Given the description of an element on the screen output the (x, y) to click on. 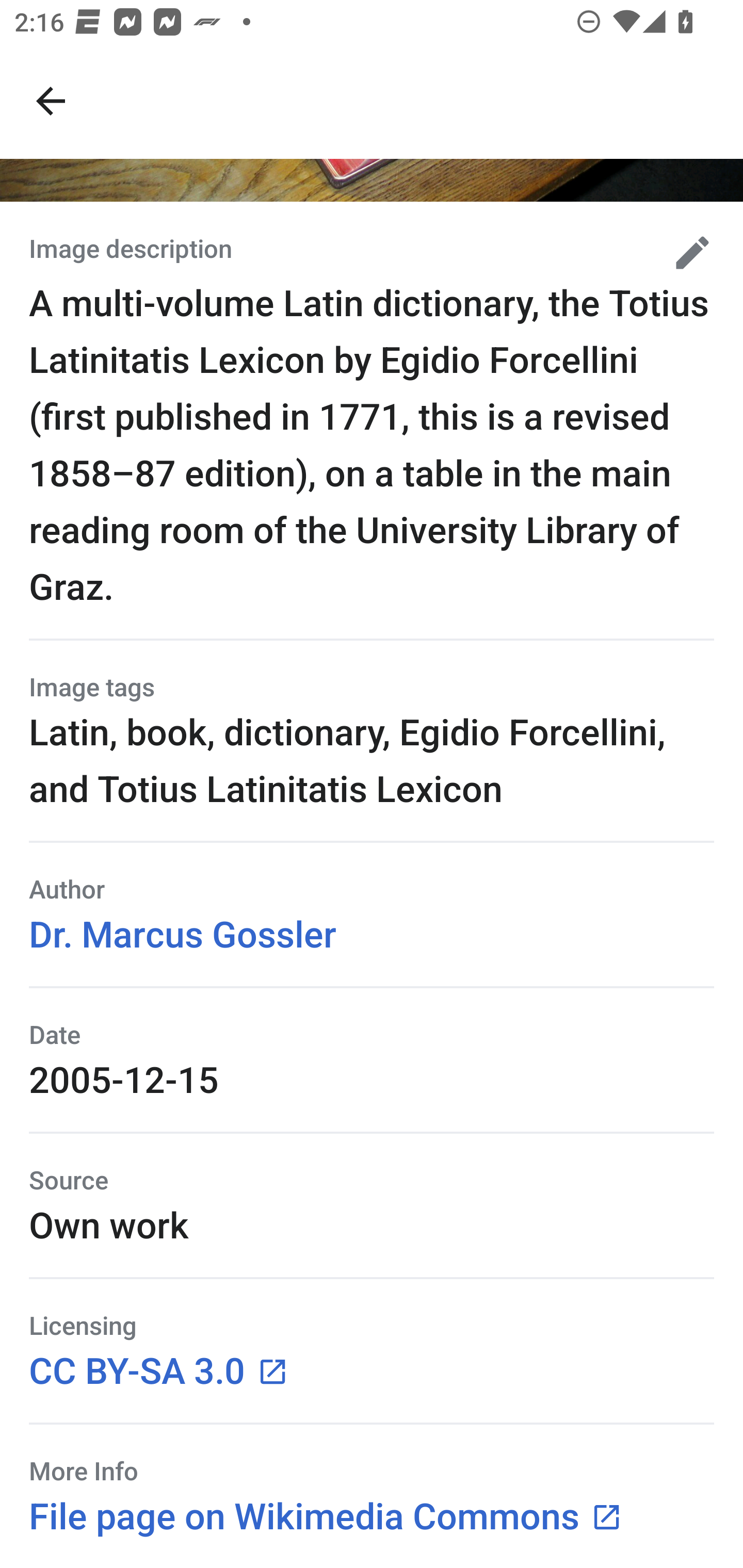
Navigate up (50, 101)
Edit Image description (685, 252)
CC BY-SA 3.0 (158, 1369)
File page on Wikimedia Commons (325, 1515)
